Given the description of an element on the screen output the (x, y) to click on. 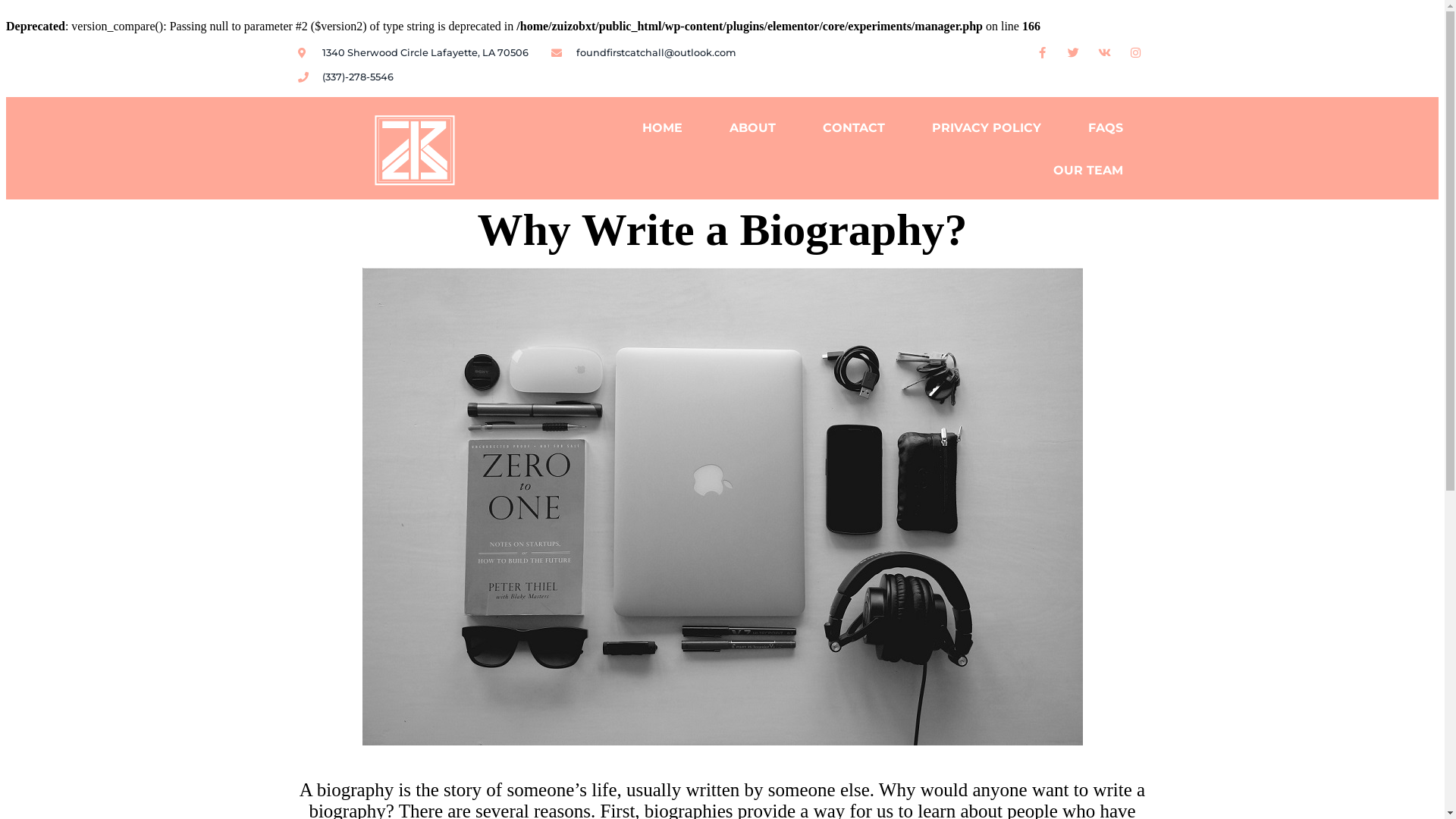
FAQS Element type: text (1105, 127)
CONTACT Element type: text (853, 127)
ABOUT Element type: text (752, 127)
HOME Element type: text (662, 127)
PRIVACY POLICY Element type: text (986, 127)
OUR TEAM Element type: text (1087, 170)
